Given the description of an element on the screen output the (x, y) to click on. 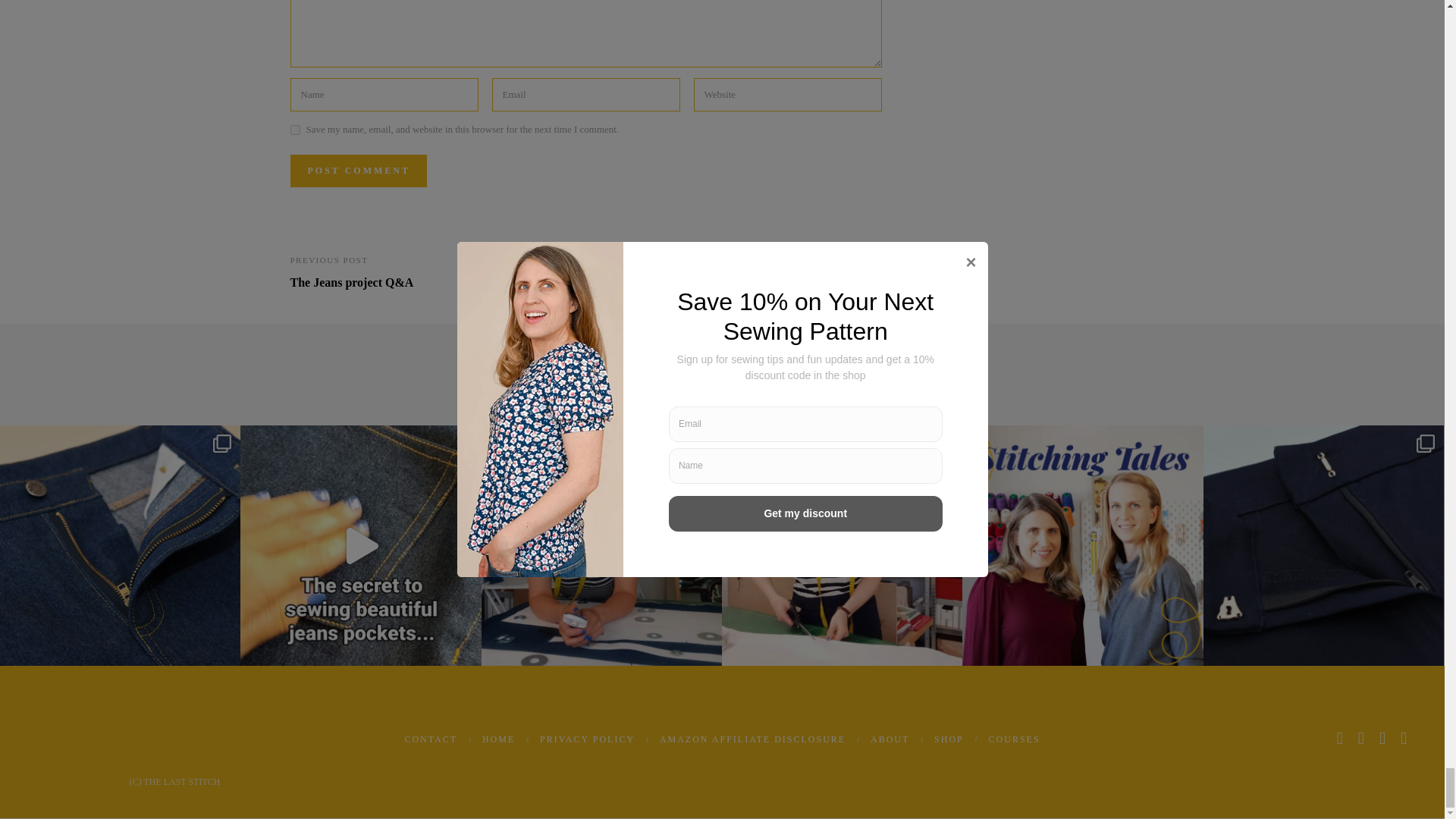
yes (294, 130)
Post Comment (357, 170)
